Given the description of an element on the screen output the (x, y) to click on. 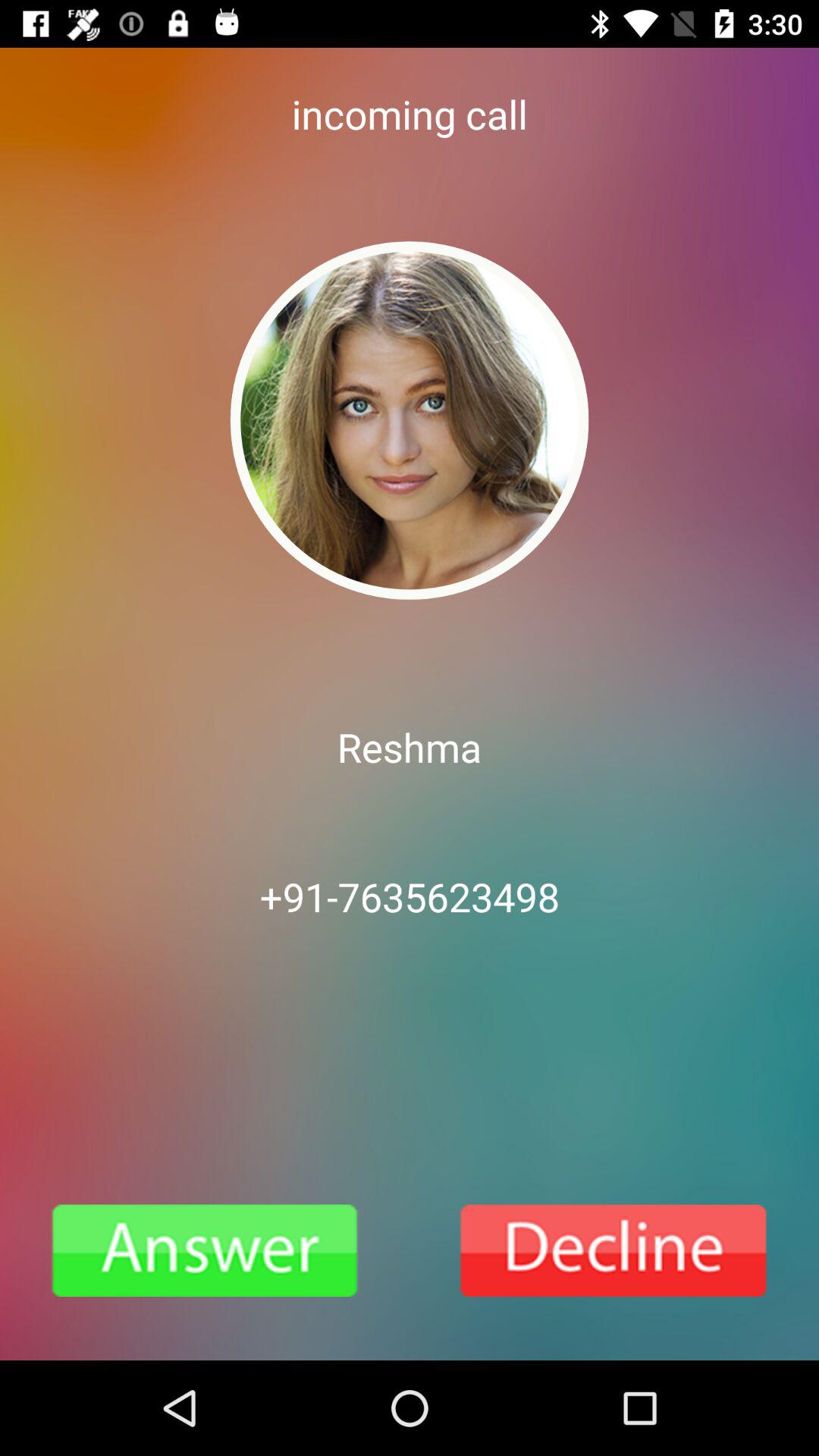
launch icon below the +91-7635623498 item (204, 1250)
